Given the description of an element on the screen output the (x, y) to click on. 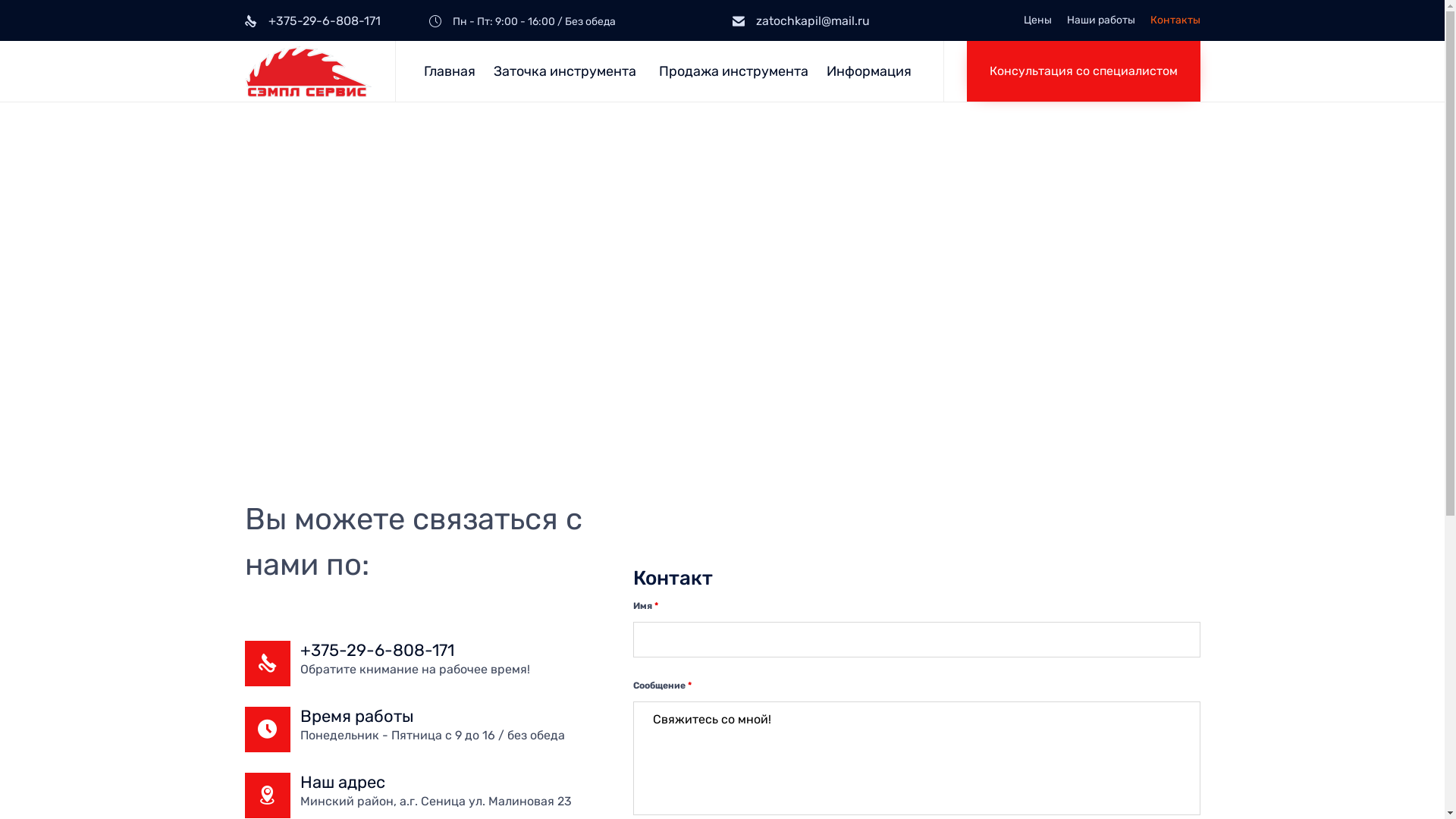
zatochkapil@mail.ru Element type: text (812, 20)
+375-29-6-808-171 Element type: text (377, 650)
+375-29-6-808-171 Element type: text (324, 20)
Skip to content Element type: text (941, 40)
